Given the description of an element on the screen output the (x, y) to click on. 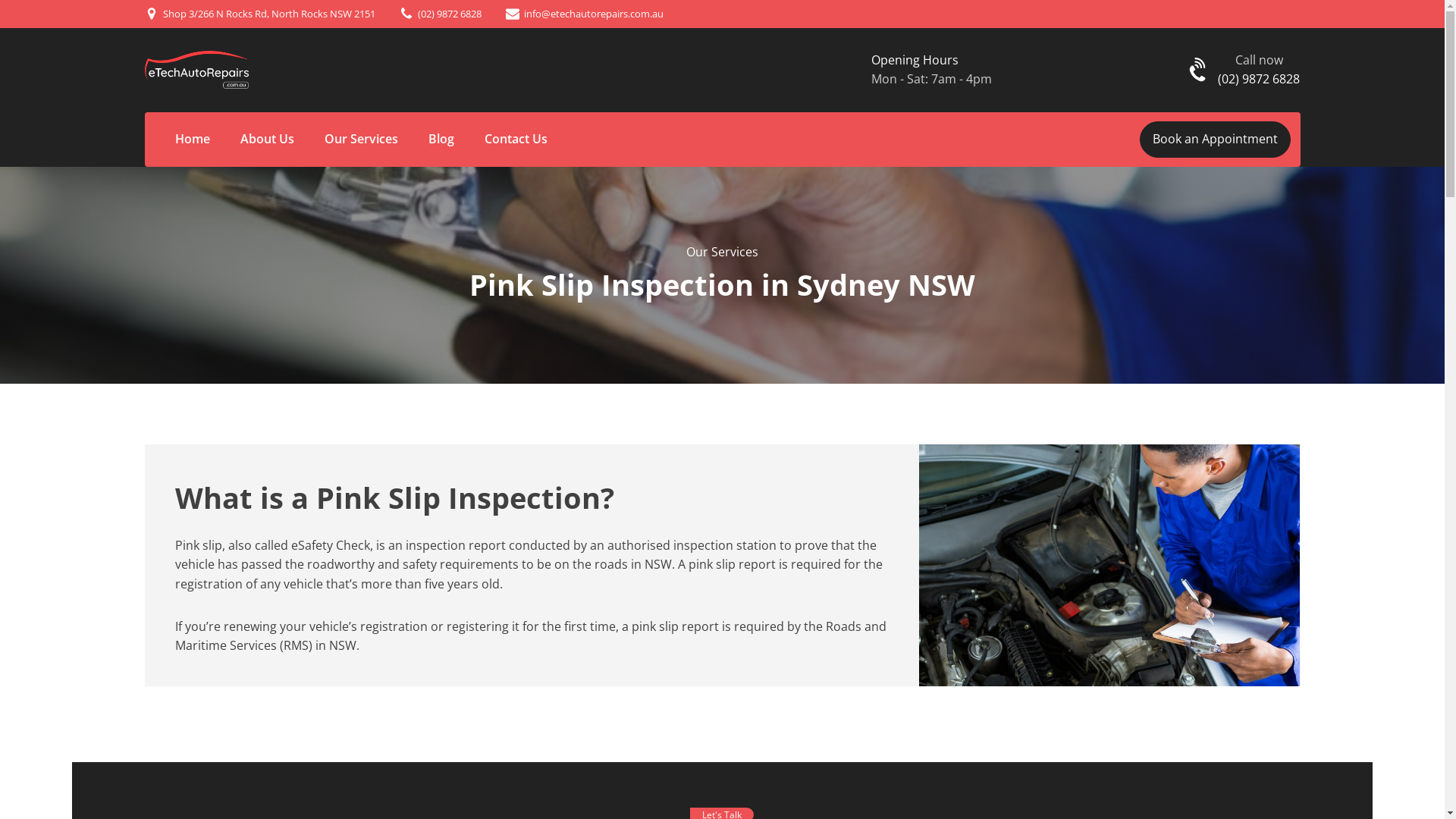
Call now
(02) 9872 6828 Element type: text (1258, 69)
About Us Element type: text (266, 139)
Blog Element type: text (440, 139)
Contact Us Element type: text (514, 139)
(02) 9872 6828 Element type: text (448, 13)
info@etechautorepairs.com.au Element type: text (592, 13)
Home Element type: text (191, 139)
Book an Appointment Element type: text (1214, 139)
Our Services Element type: text (361, 139)
Shop 3/266 N Rocks Rd, North Rocks NSW 2151 Element type: text (268, 13)
